Given the description of an element on the screen output the (x, y) to click on. 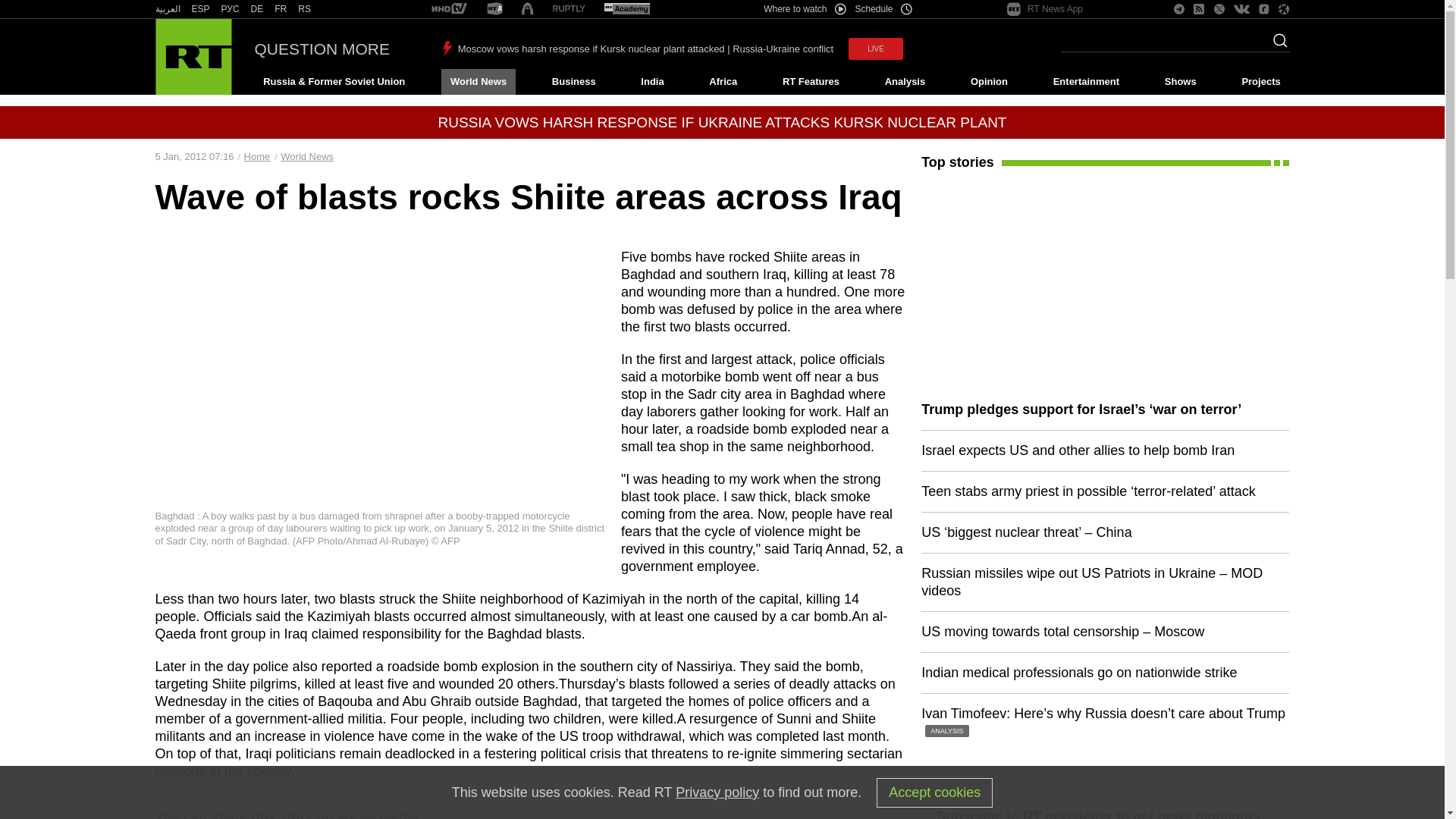
World News (478, 81)
India (651, 81)
RT  (494, 9)
Shows (1180, 81)
Search (1276, 44)
Projects (1261, 81)
Analysis (905, 81)
Entertainment (1085, 81)
RS (304, 9)
FR (280, 9)
